Given the description of an element on the screen output the (x, y) to click on. 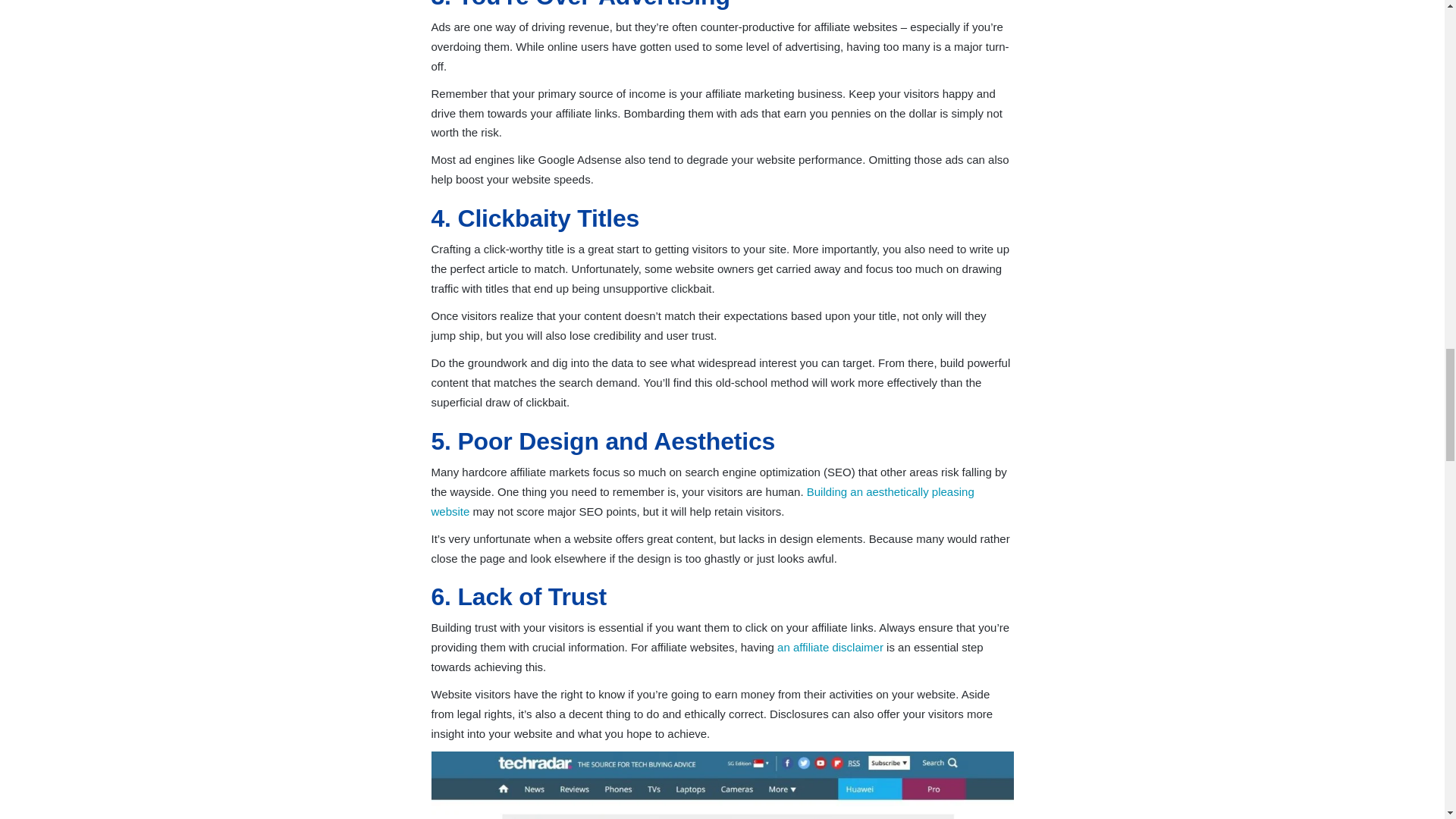
Building an aesthetically pleasing website (702, 501)
an affiliate disclaimer (830, 646)
